Given the description of an element on the screen output the (x, y) to click on. 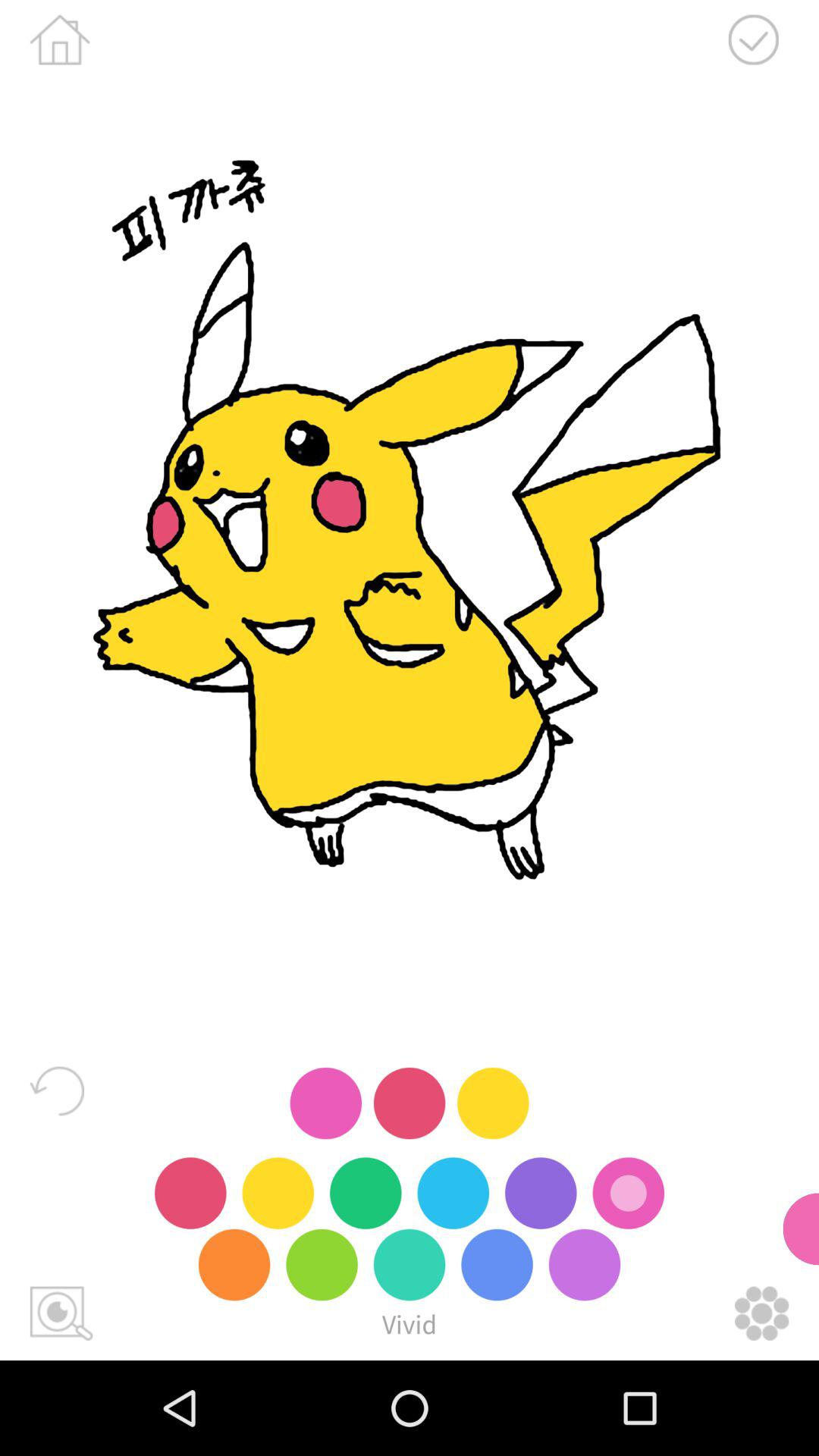
reset screen (57, 1090)
